Given the description of an element on the screen output the (x, y) to click on. 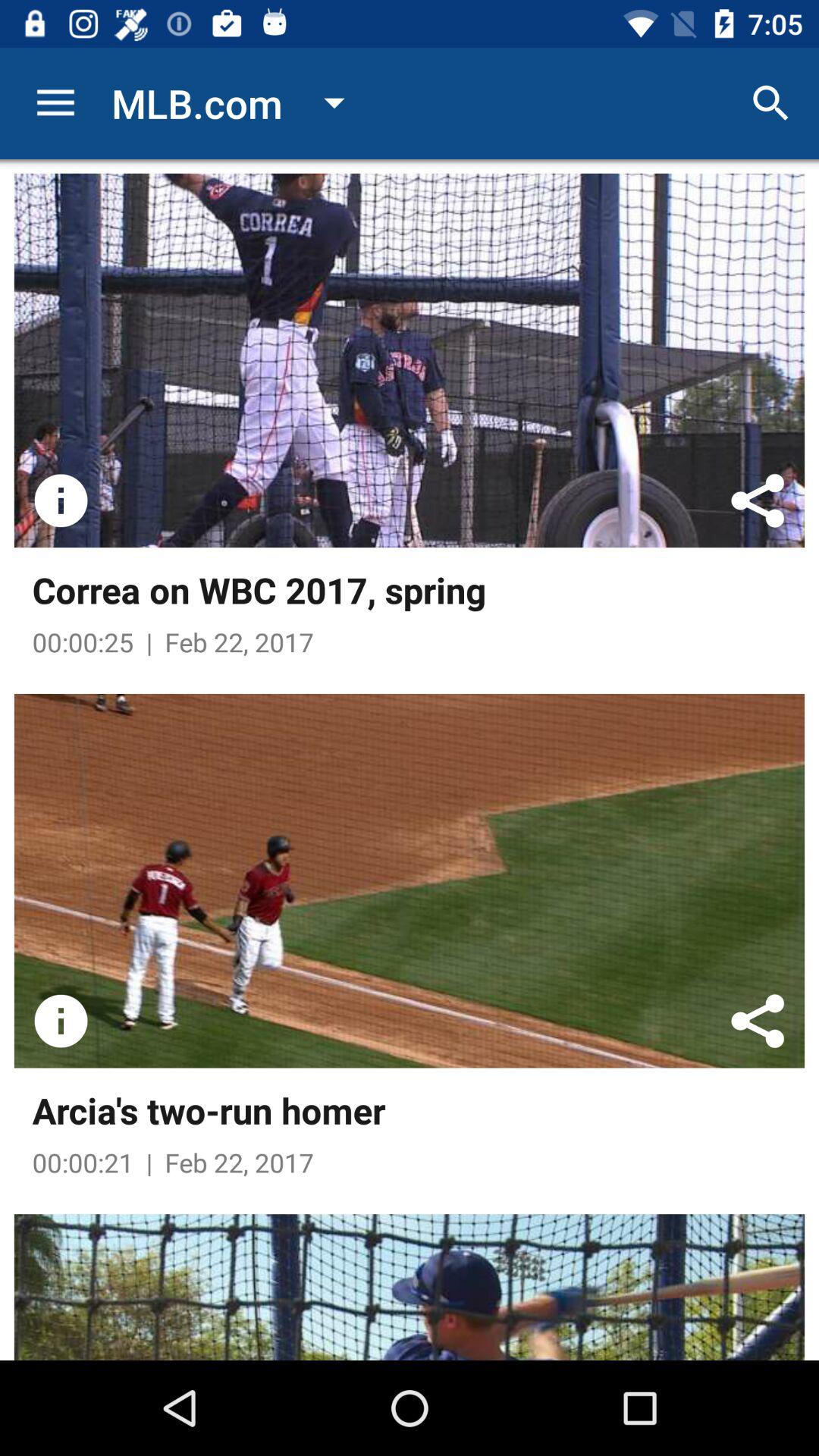
share the article (757, 500)
